Given the description of an element on the screen output the (x, y) to click on. 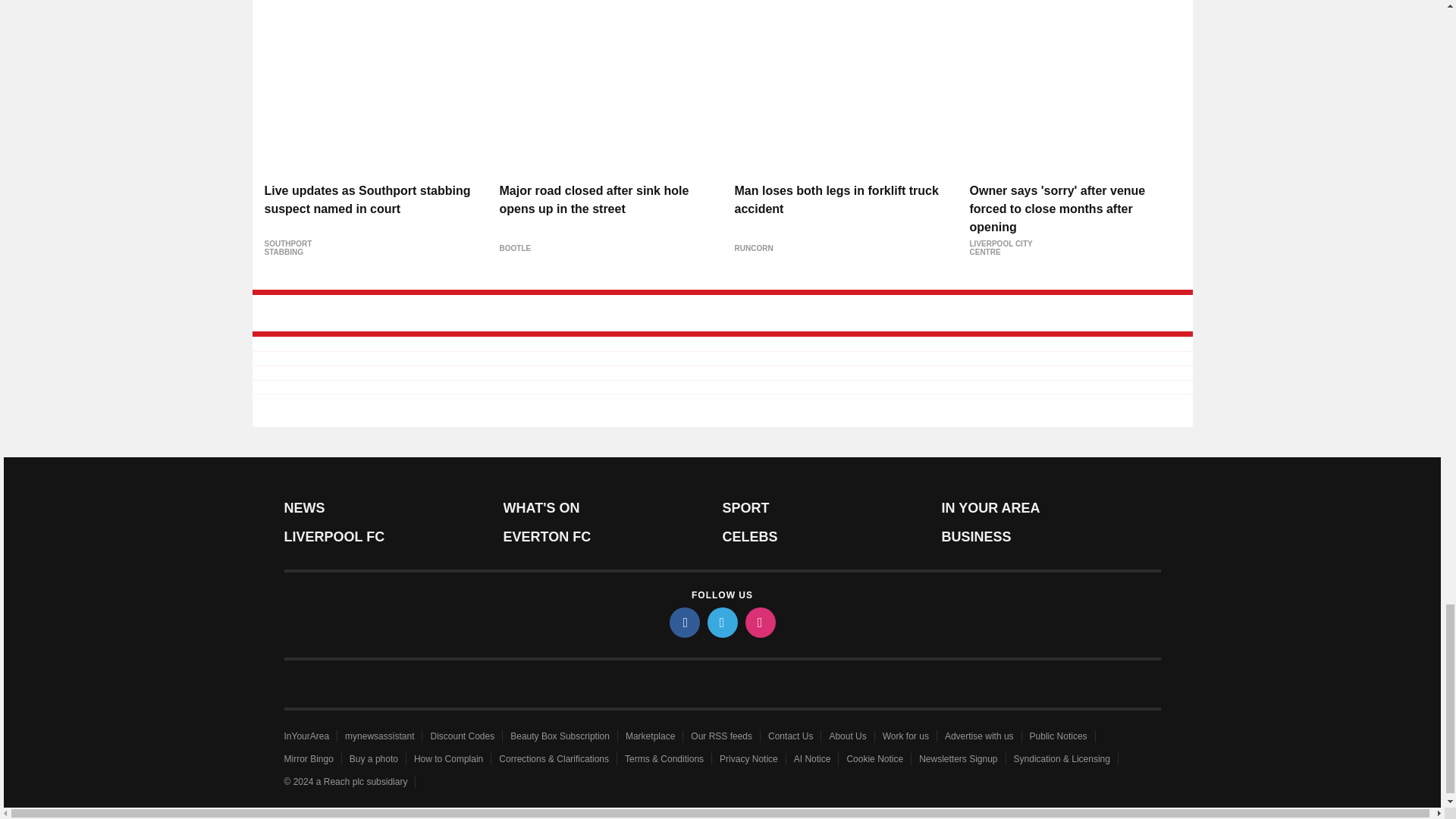
instagram (759, 622)
facebook (683, 622)
twitter (721, 622)
